Given the description of an element on the screen output the (x, y) to click on. 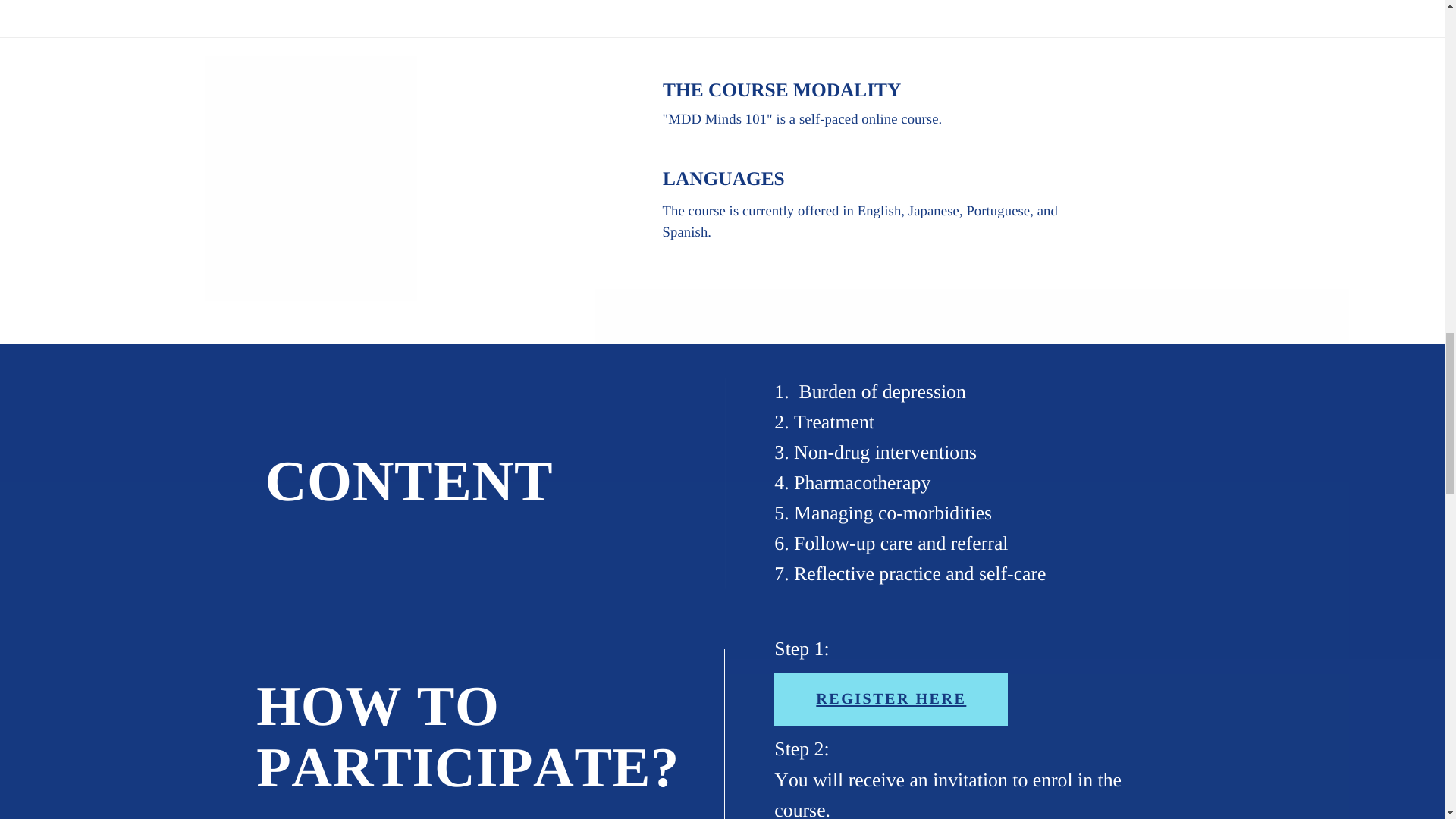
REGISTER HERE (890, 699)
